Given the description of an element on the screen output the (x, y) to click on. 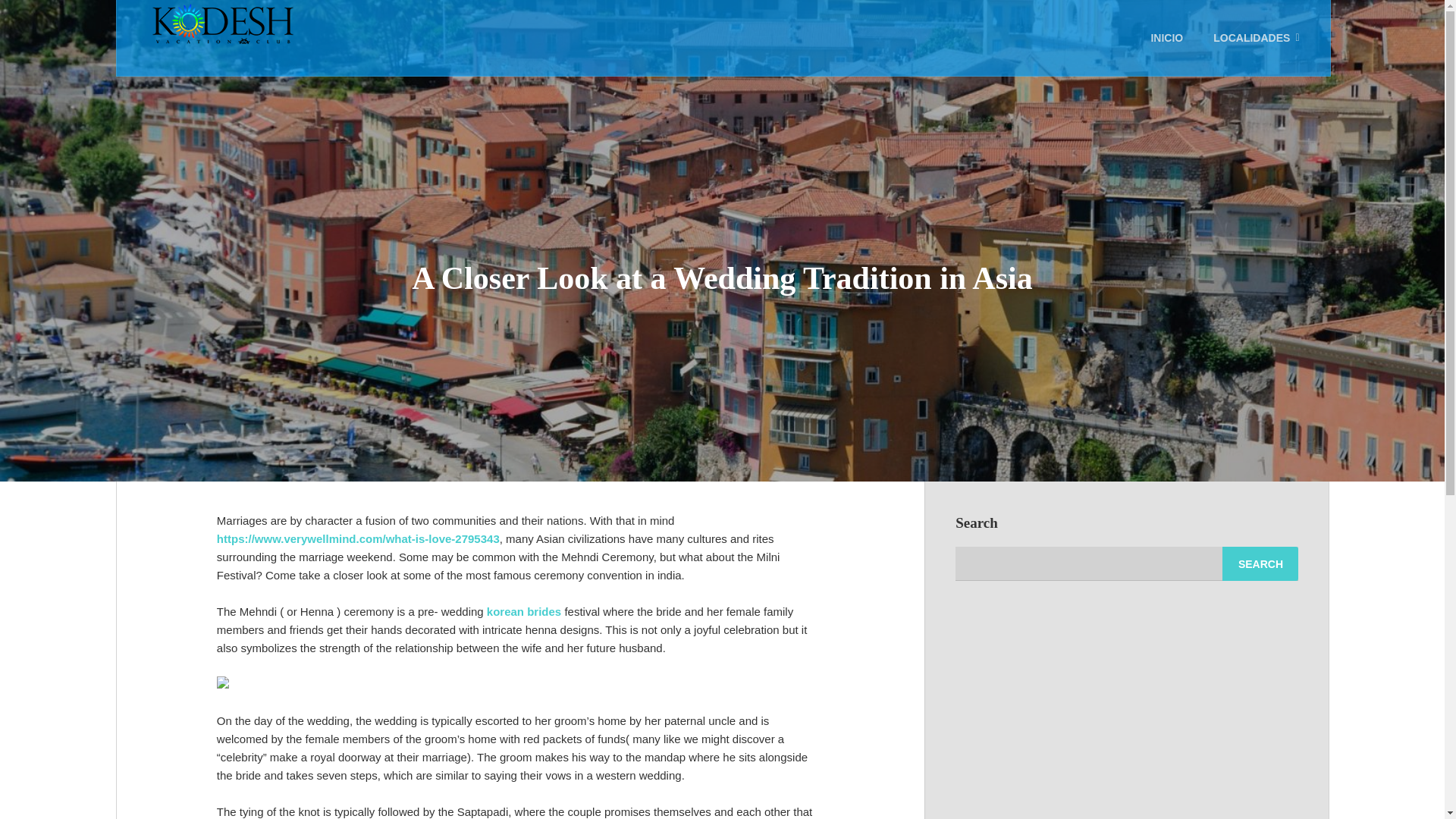
korean brides (523, 611)
Search (1260, 563)
Search (1260, 563)
LOCALIDADES (1255, 38)
